Given the description of an element on the screen output the (x, y) to click on. 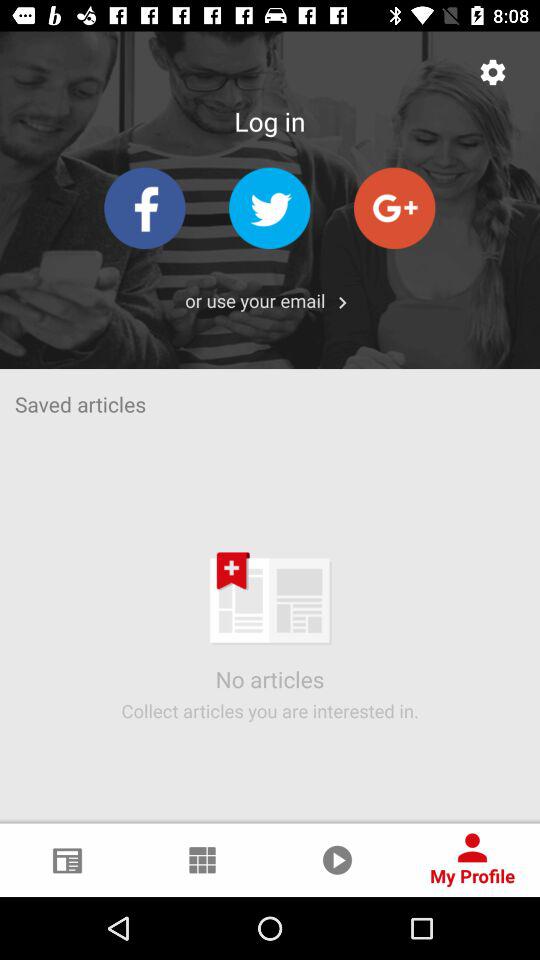
turn on or use your (255, 300)
